Given the description of an element on the screen output the (x, y) to click on. 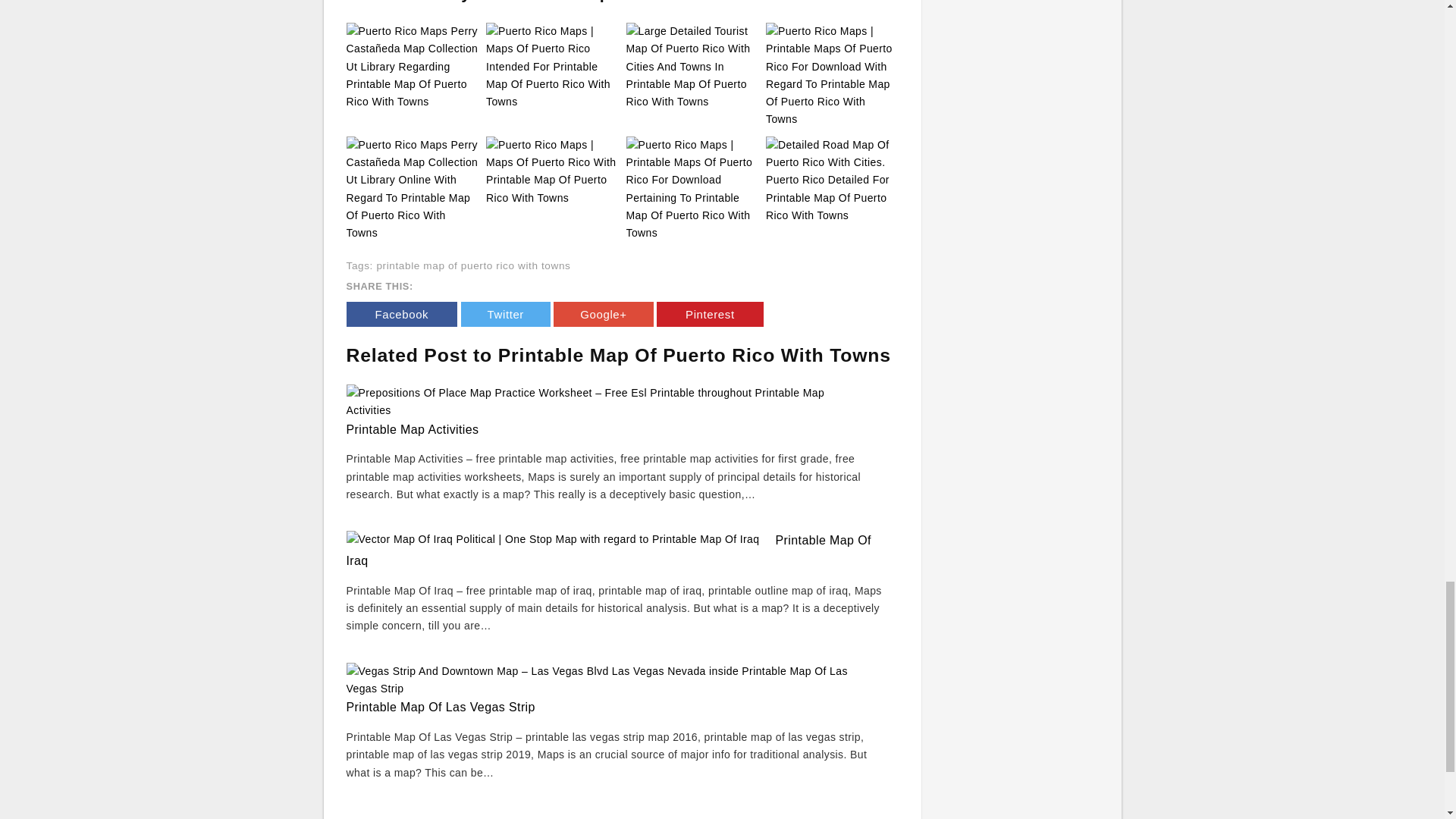
Pinterest (709, 314)
Printable Map Activities (412, 429)
printable map of puerto rico with towns (472, 265)
Twitter (505, 314)
Printable Map Of Las Vegas Strip (440, 707)
Facebook (401, 314)
Printable Map Of Iraq (608, 550)
